Given the description of an element on the screen output the (x, y) to click on. 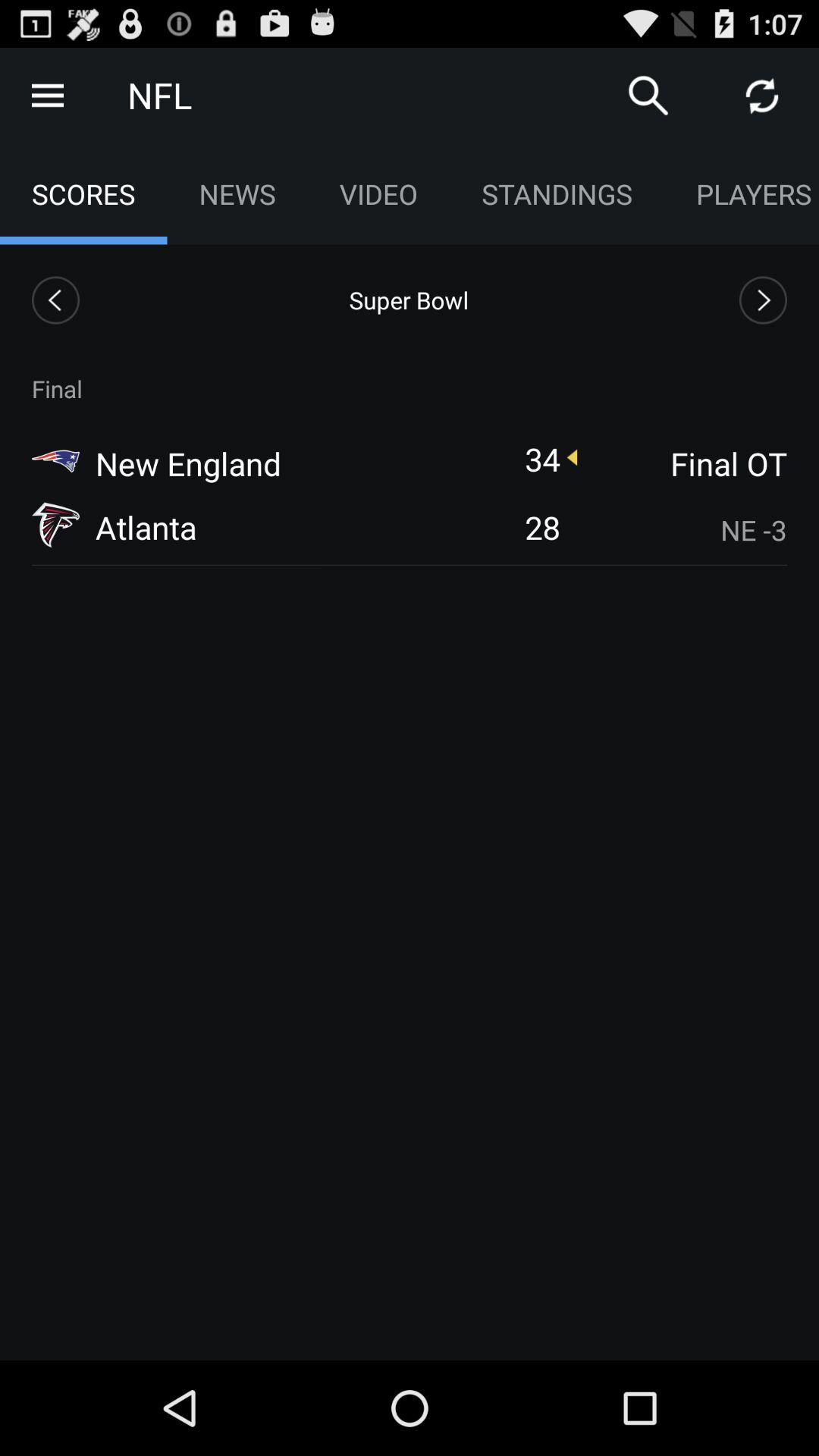
choose the icon above super bowl (378, 193)
